Given the description of an element on the screen output the (x, y) to click on. 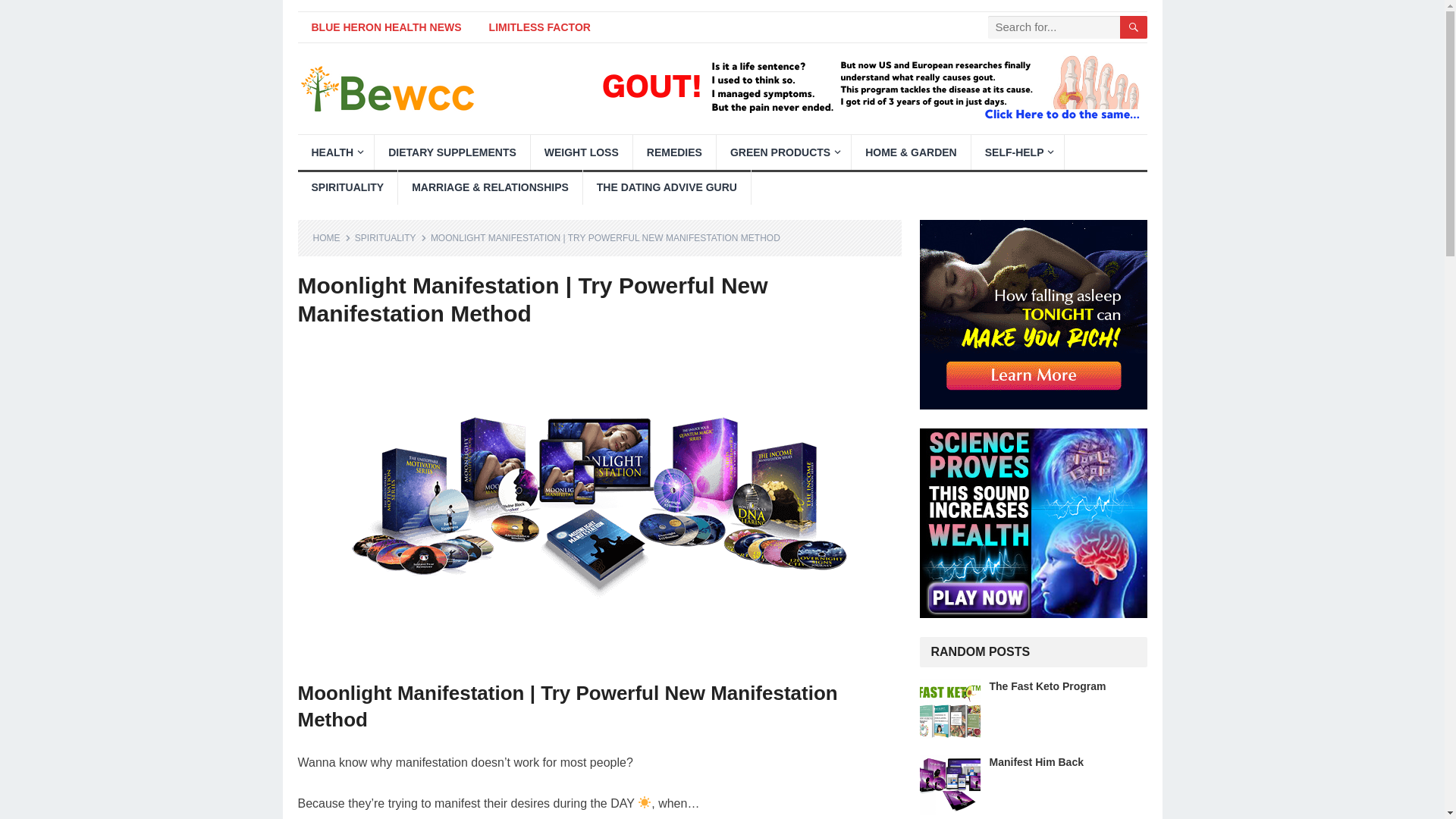
REMEDIES (674, 152)
SPIRITUALITY (347, 186)
LIMITLESS FACTOR (540, 27)
HEALTH (335, 152)
SELF-HELP (1017, 152)
THE DATING ADVIVE GURU (667, 186)
GREEN PRODUCTS (783, 152)
BLUE HERON HEALTH NEWS (385, 27)
WEIGHT LOSS (581, 152)
DIETARY SUPPLEMENTS (451, 152)
SPIRITUALITY (390, 237)
HOME (331, 237)
View all posts in Spirituality (390, 237)
